Given the description of an element on the screen output the (x, y) to click on. 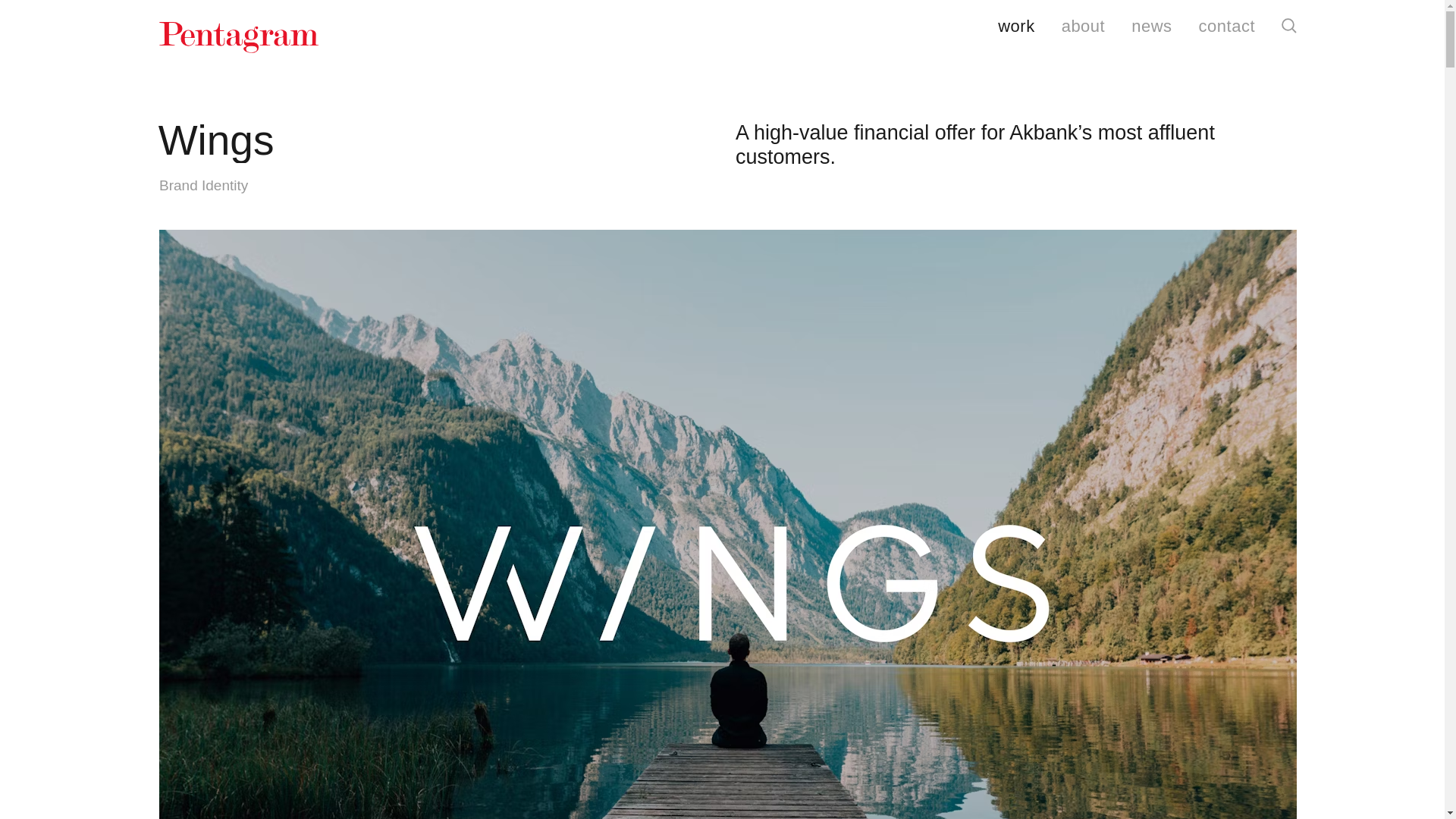
contact (1226, 26)
Search (1289, 25)
